Given the description of an element on the screen output the (x, y) to click on. 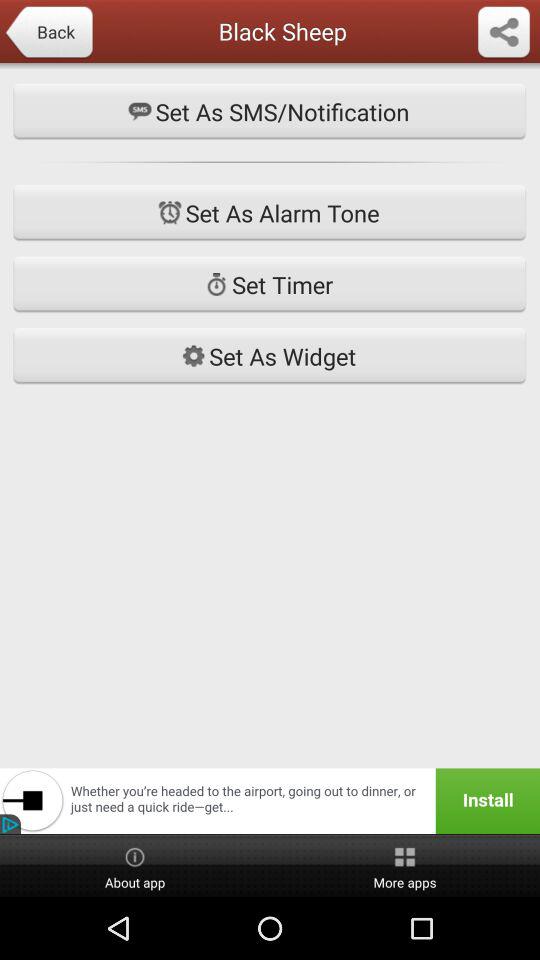
go to advertisement (270, 801)
